Given the description of an element on the screen output the (x, y) to click on. 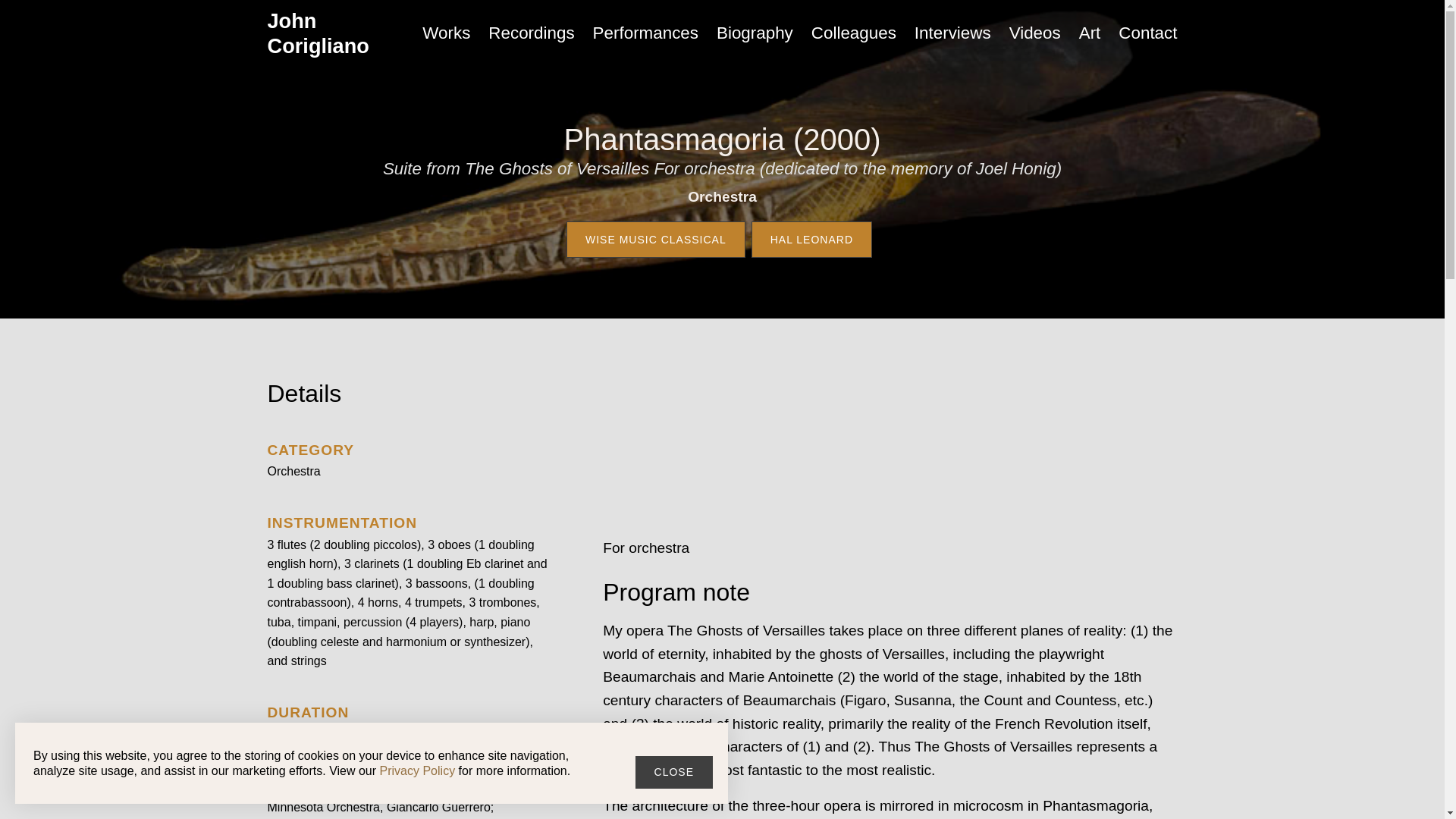
Performances (645, 33)
Videos (1035, 33)
Interviews (952, 33)
WISE MUSIC CLASSICAL (655, 239)
Colleagues (853, 33)
Works (446, 33)
Phantasmagoria - Suite from The Ghosts of Versailles (889, 448)
Contact (1147, 33)
HAL LEONARD (811, 239)
Biography (754, 33)
Recordings (531, 33)
John Corigliano (327, 33)
Privacy Policy (417, 770)
CLOSE (673, 771)
Art (1089, 33)
